Given the description of an element on the screen output the (x, y) to click on. 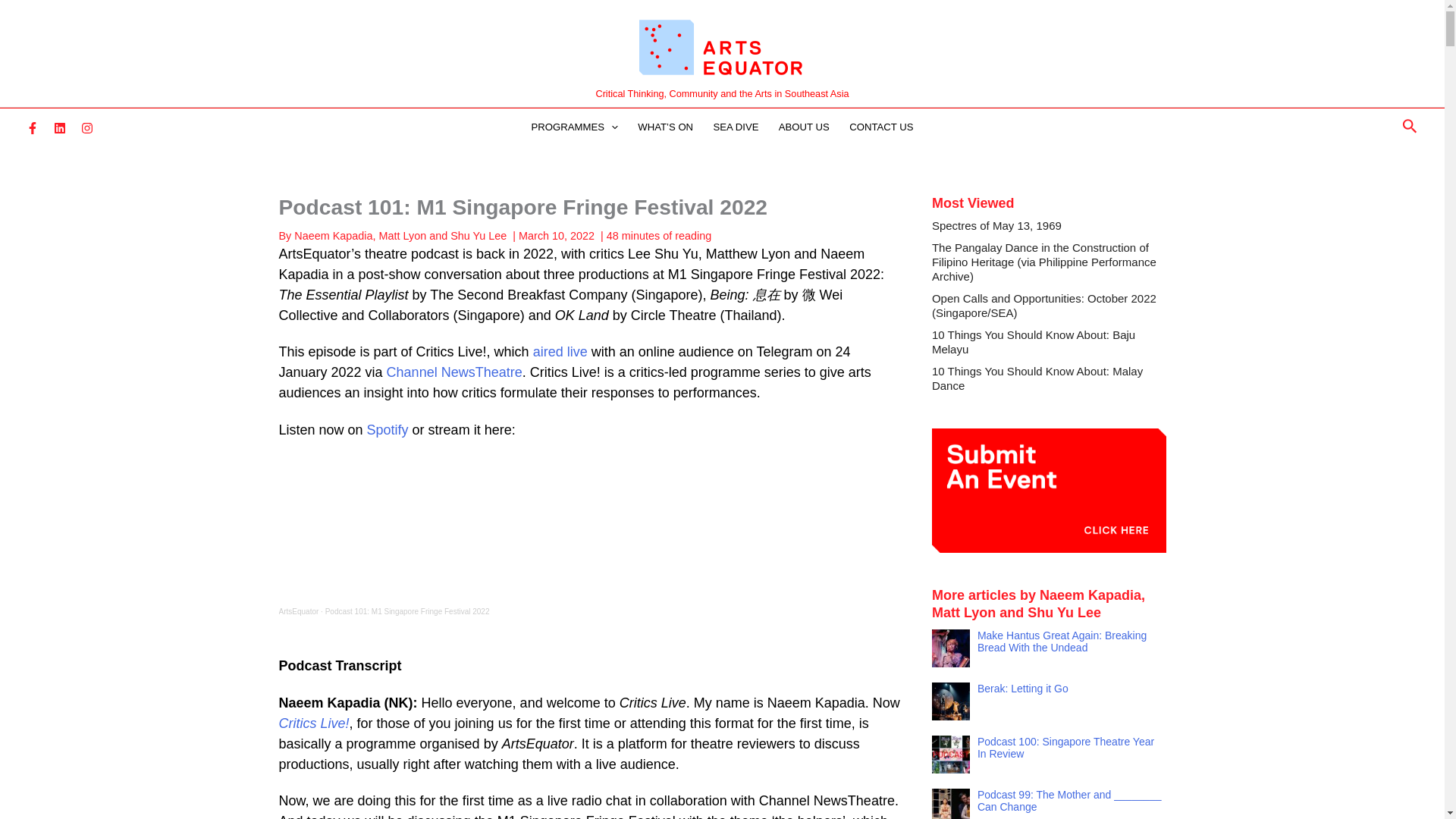
View all posts by Matt Lyon (402, 235)
Critics Live! (314, 723)
Podcast 101: M1 Singapore Fringe Festival 2022 (406, 611)
Channel NewsTheatre (454, 372)
PROGRAMMES (574, 127)
Matt Lyon (402, 235)
Podcast 101: M1 Singapore Fringe Festival 2022 (406, 611)
aired live (560, 351)
View all posts by Shu Yu Lee (477, 235)
ArtsEquator (298, 611)
Spotify (387, 429)
View all posts by Naeem Kapadia (333, 235)
ArtsEquator (298, 611)
Shu Yu Lee (477, 235)
SEA DIVE (735, 127)
